Given the description of an element on the screen output the (x, y) to click on. 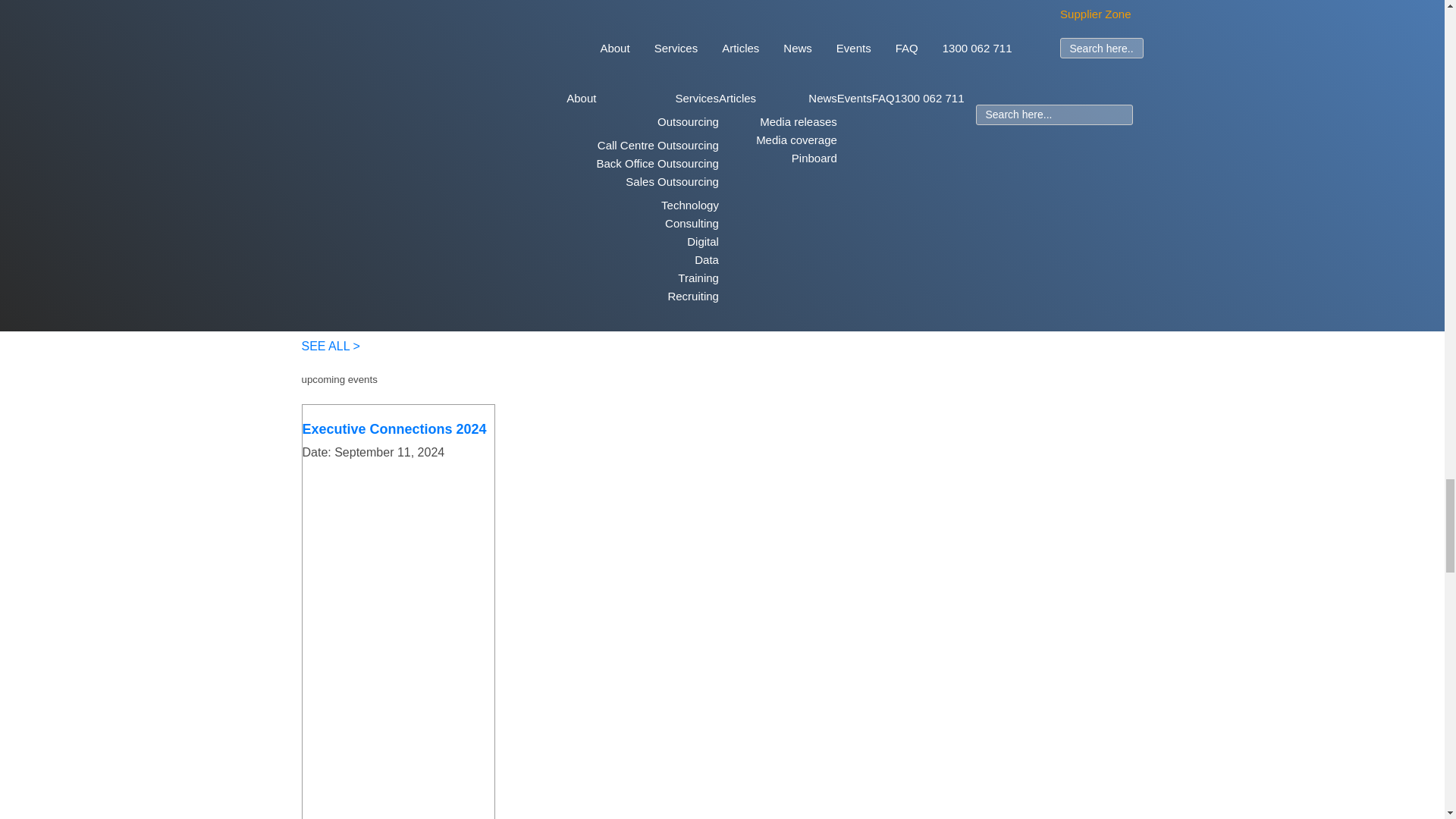
Executive Connections 2024 (393, 428)
How Staff Leasing in Fiji can help North American BPOs (413, 147)
